Given the description of an element on the screen output the (x, y) to click on. 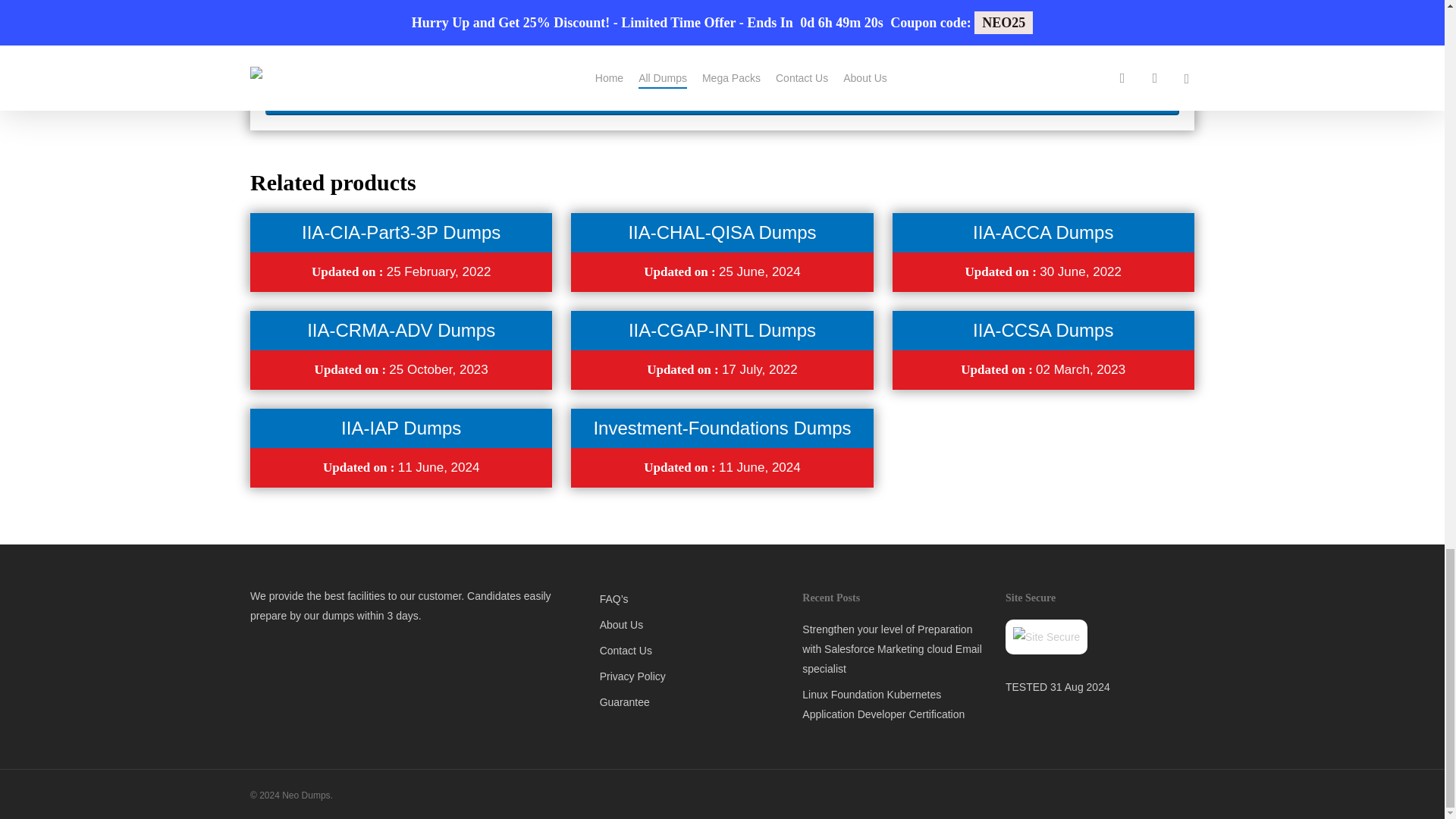
Updated on : 17 July, 2022 (721, 369)
IIA-CHAL-QISA Dumps (721, 231)
Investment-Foundations Dumps (721, 427)
Load More (721, 97)
Updated on : 30 June, 2022 (1043, 271)
Updated on : 11 June, 2024 (401, 467)
IIA-CGAP-INTL Dumps (721, 330)
IIA-CCSA Dumps (1042, 330)
About Us (691, 624)
IIA-CRMA-ADV Dumps (401, 330)
